Given the description of an element on the screen output the (x, y) to click on. 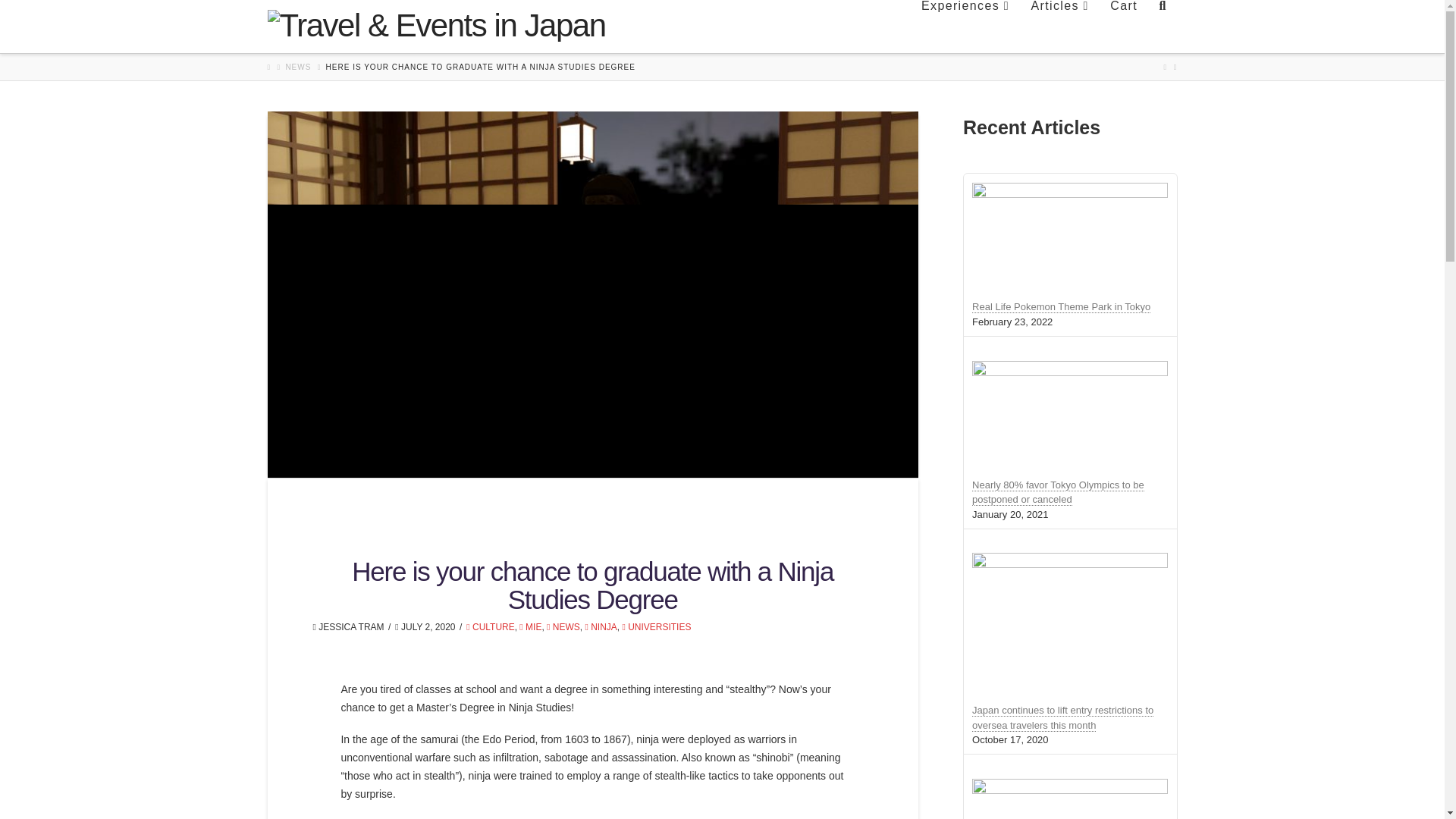
Cart (1123, 26)
Experiences (964, 26)
Articles (1059, 26)
You Are Here (480, 67)
